Given the description of an element on the screen output the (x, y) to click on. 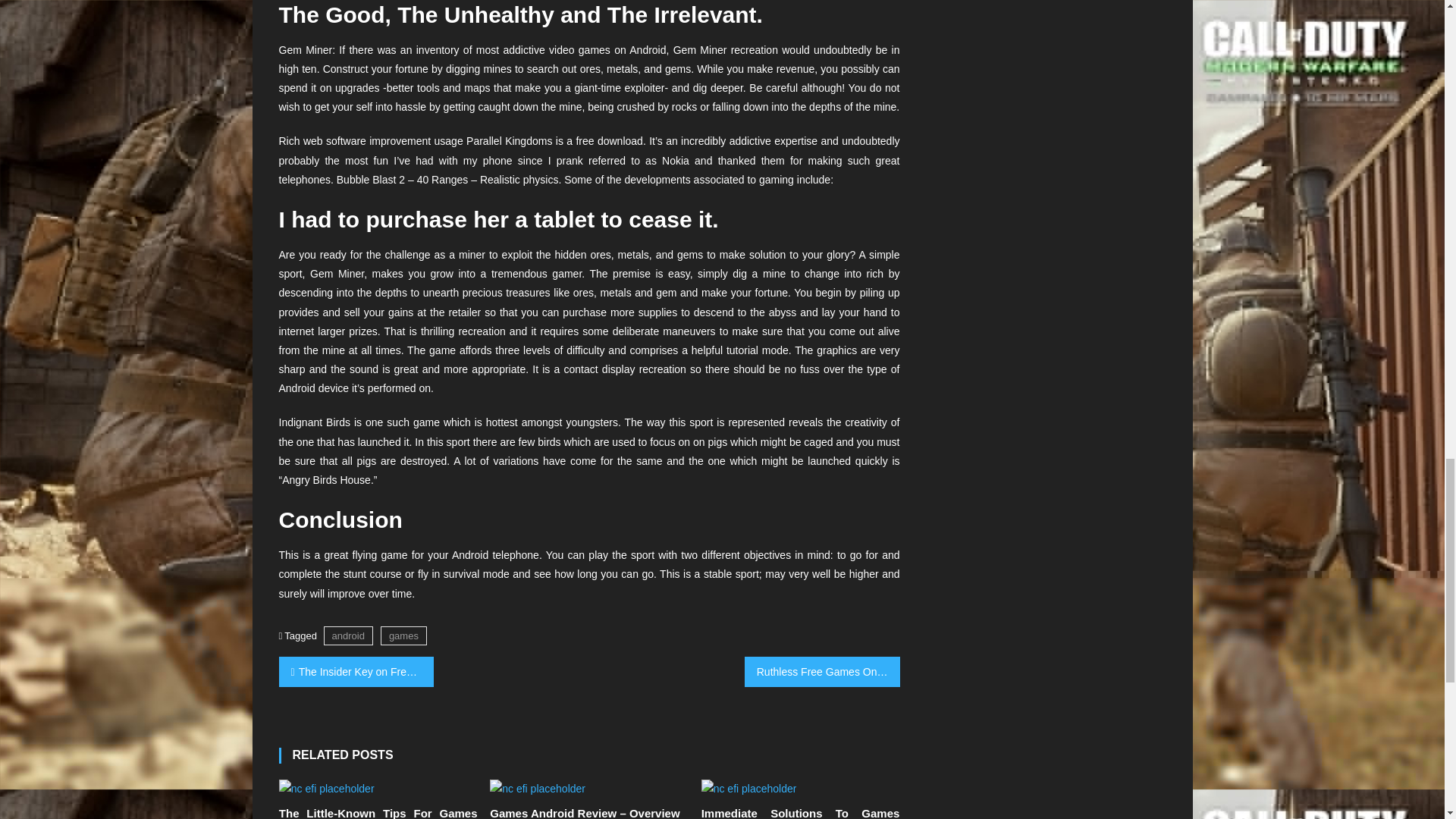
android (347, 635)
The Insider Key on Free Games Online Discovered (356, 671)
The Little-Known Tips For Games Android (378, 812)
games (403, 635)
Games Android Review - Overview (537, 788)
Ruthless Free Games Online Strategies Exploited (821, 671)
The Little-Known Tips For Games Android (326, 788)
